Given the description of an element on the screen output the (x, y) to click on. 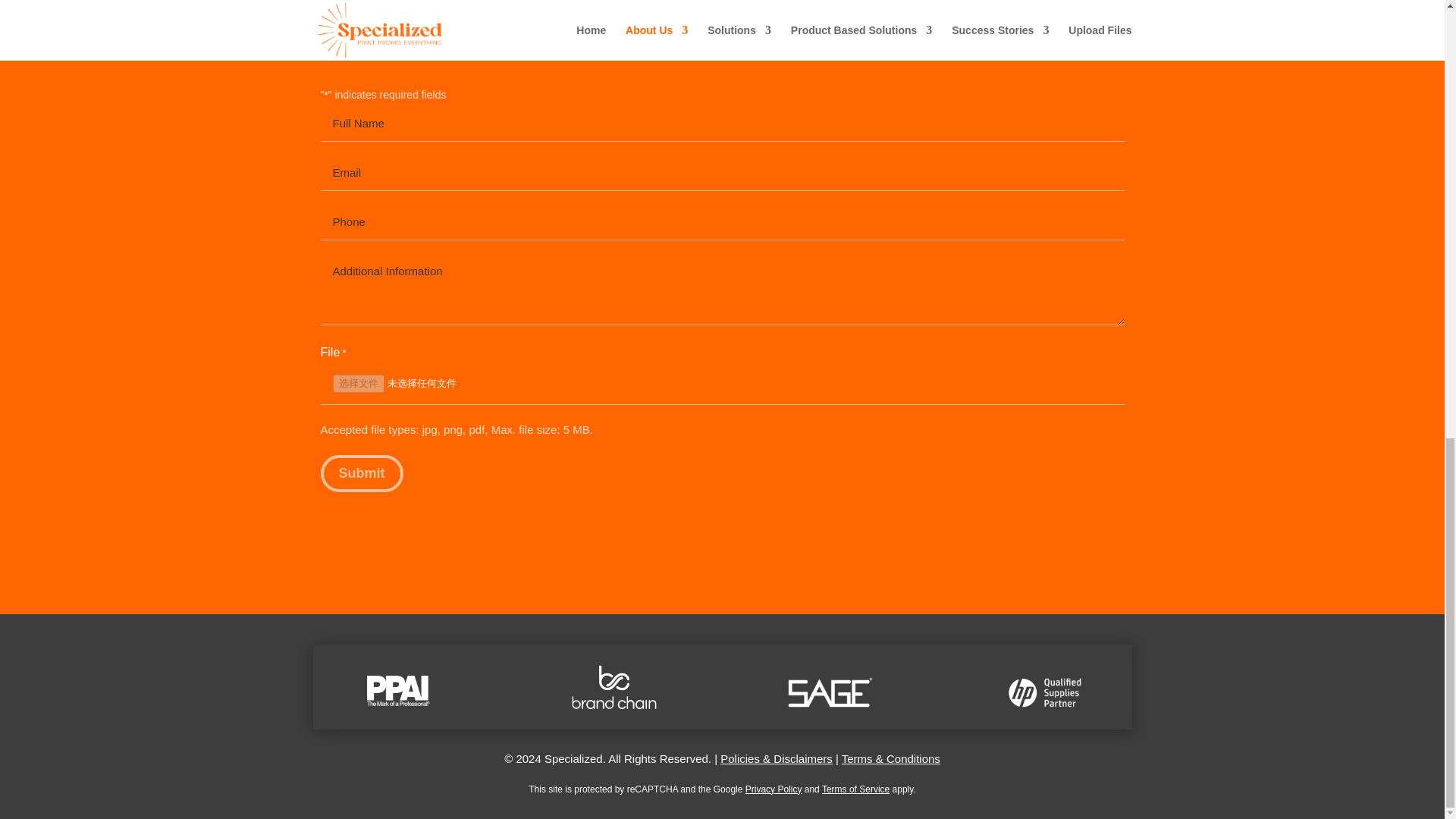
hp (1046, 691)
Submit (361, 473)
sage (830, 691)
02dfasd (398, 690)
